Given the description of an element on the screen output the (x, y) to click on. 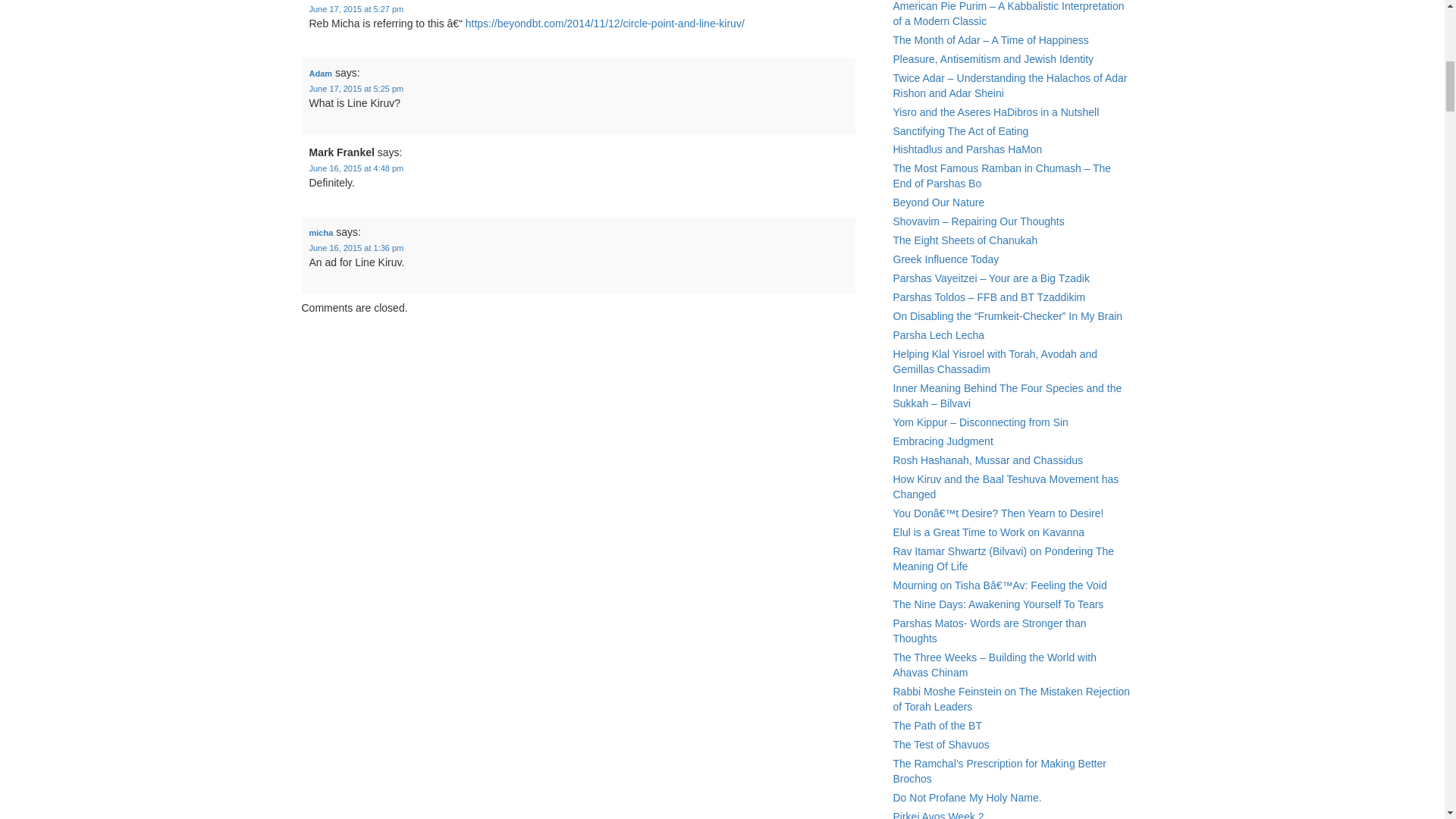
June 17, 2015 at 5:27 pm (356, 8)
June 17, 2015 at 5:25 pm (356, 88)
Adam (320, 72)
June 16, 2015 at 1:36 pm (356, 247)
June 16, 2015 at 4:48 pm (356, 167)
micha (320, 232)
